Given the description of an element on the screen output the (x, y) to click on. 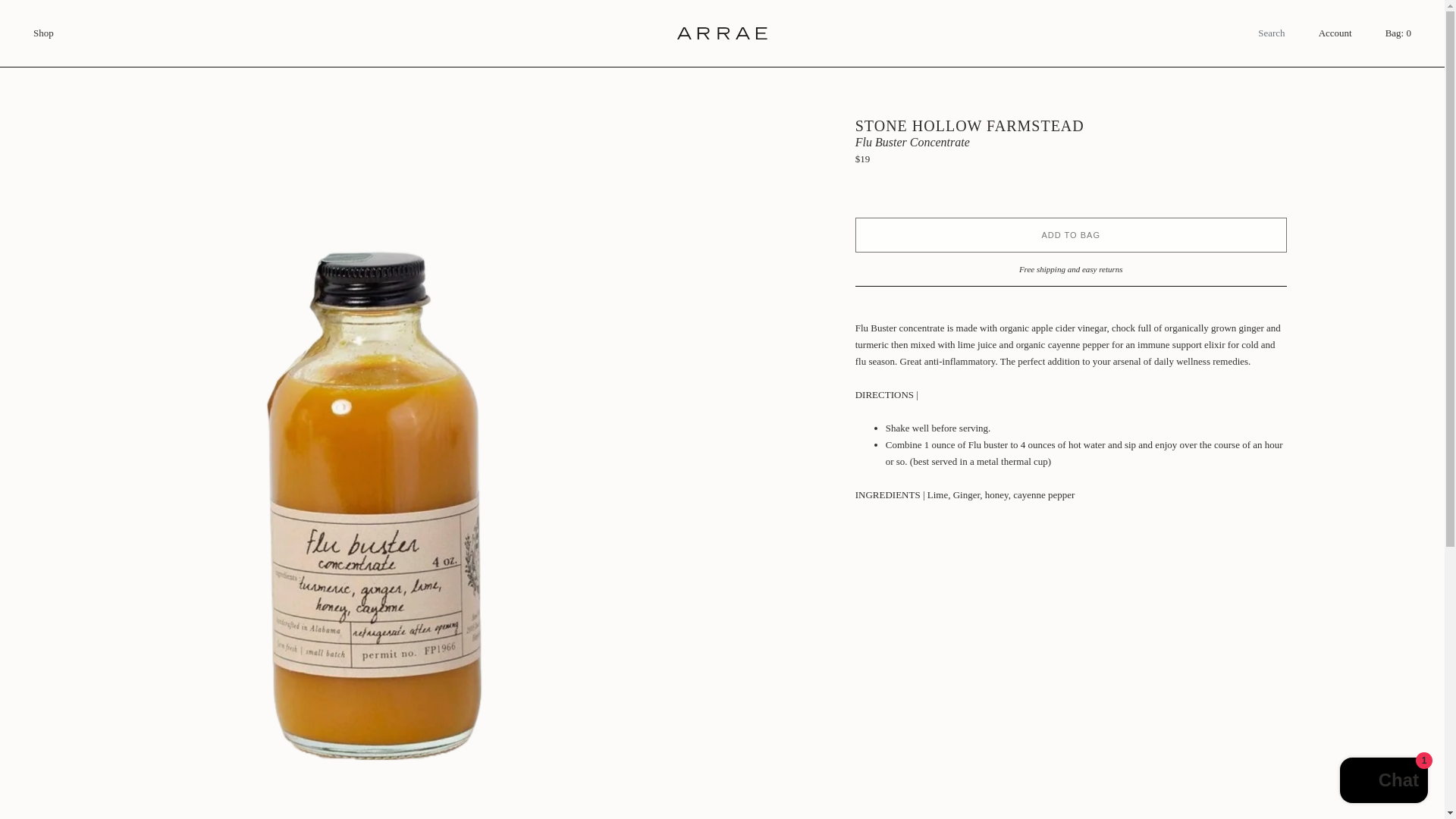
Search (1225, 33)
Shopify online store chat (1383, 781)
